Given the description of an element on the screen output the (x, y) to click on. 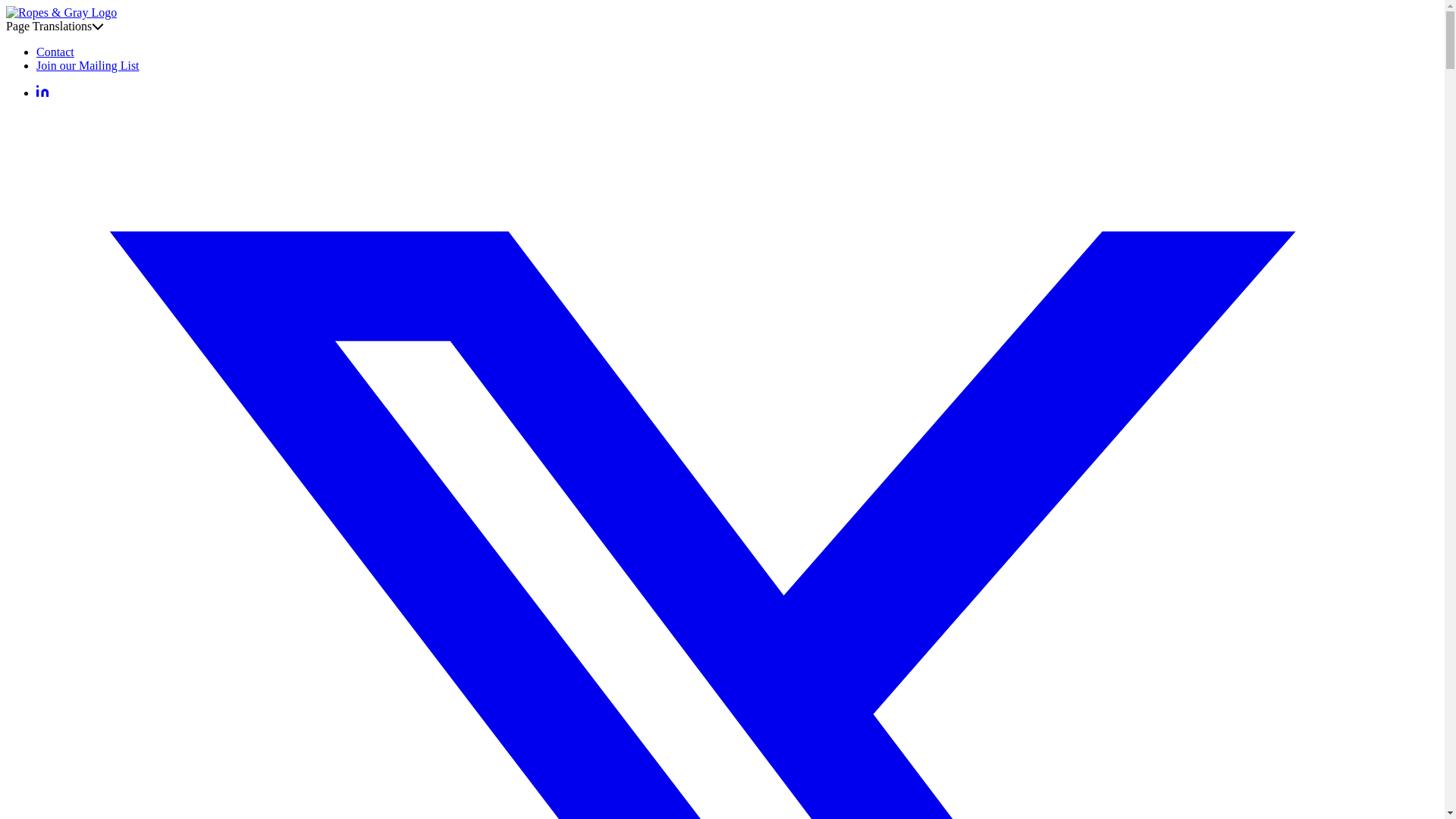
Join our Mailing List (87, 65)
Contact (55, 51)
linkedin (42, 92)
Page Translations (54, 25)
